Given the description of an element on the screen output the (x, y) to click on. 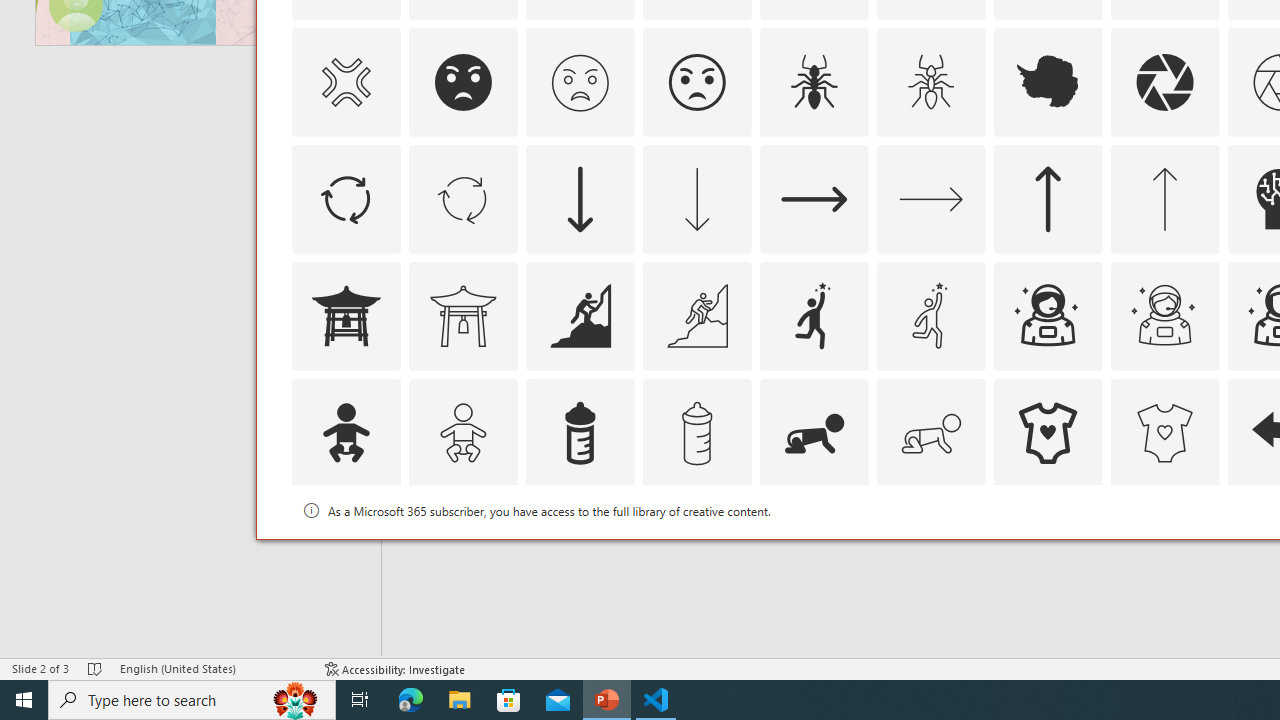
AutomationID: Icons_BabyCrawling (813, 432)
AutomationID: Icons_ArrowRight_M (930, 198)
AutomationID: Icons_ArrowUp_M (1164, 198)
AutomationID: Icons_Aspiration (579, 316)
AutomationID: Icons_Badge2 (463, 550)
AutomationID: Icons_Aspiration1 (813, 316)
AutomationID: Icons_ArrowDown (579, 198)
